Given the description of an element on the screen output the (x, y) to click on. 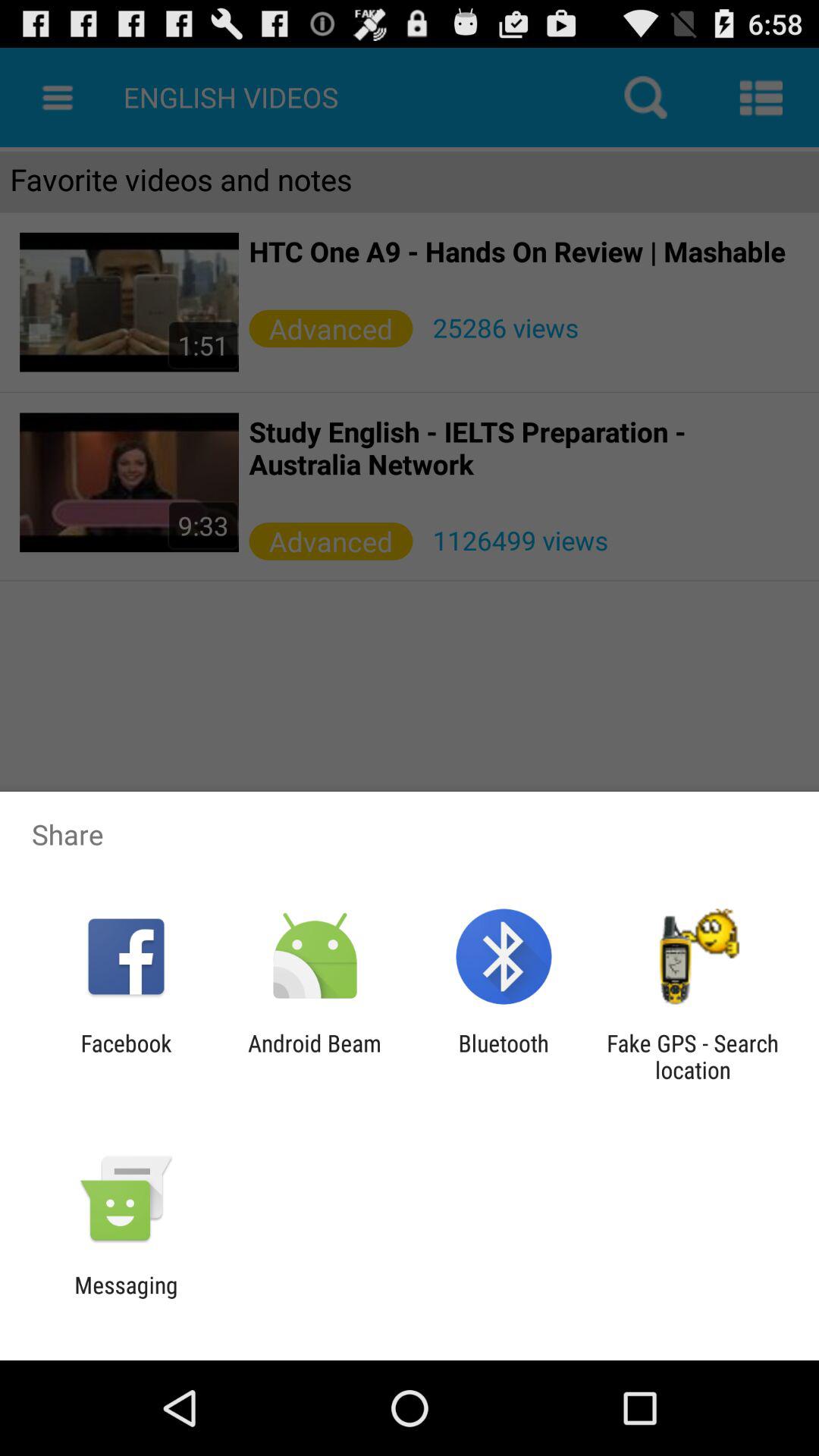
click item next to android beam app (503, 1056)
